Given the description of an element on the screen output the (x, y) to click on. 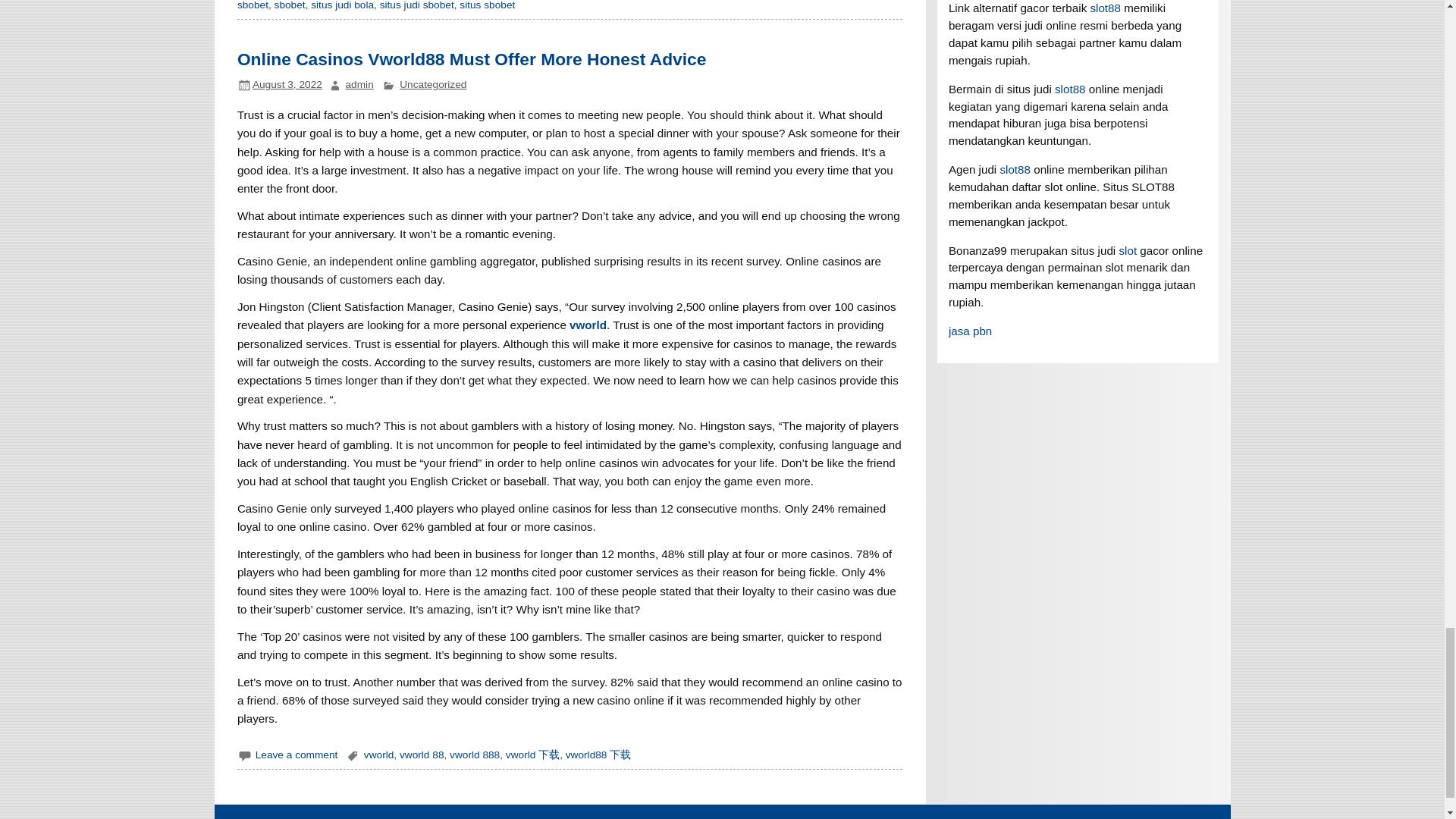
View all posts by admin (360, 84)
10:23 am (286, 84)
